Given the description of an element on the screen output the (x, y) to click on. 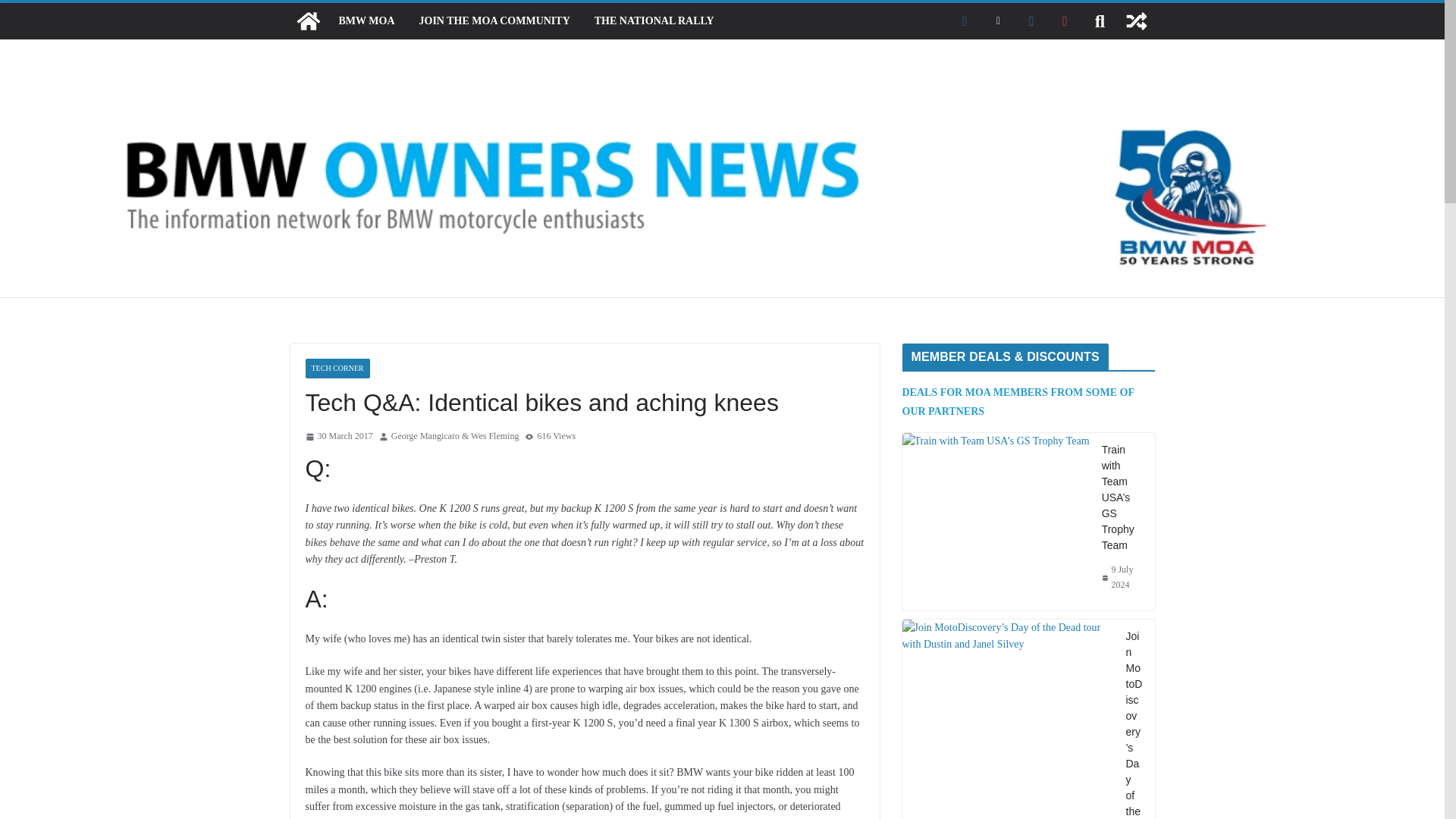
TECH CORNER (336, 368)
BMW MOA (365, 20)
9 July 2024 (1122, 576)
BMW Owners News (307, 21)
30 March 2017 (338, 436)
View a random post (1136, 21)
16:00 (338, 436)
JOIN THE MOA COMMUNITY (494, 20)
THE NATIONAL RALLY (654, 20)
